Given the description of an element on the screen output the (x, y) to click on. 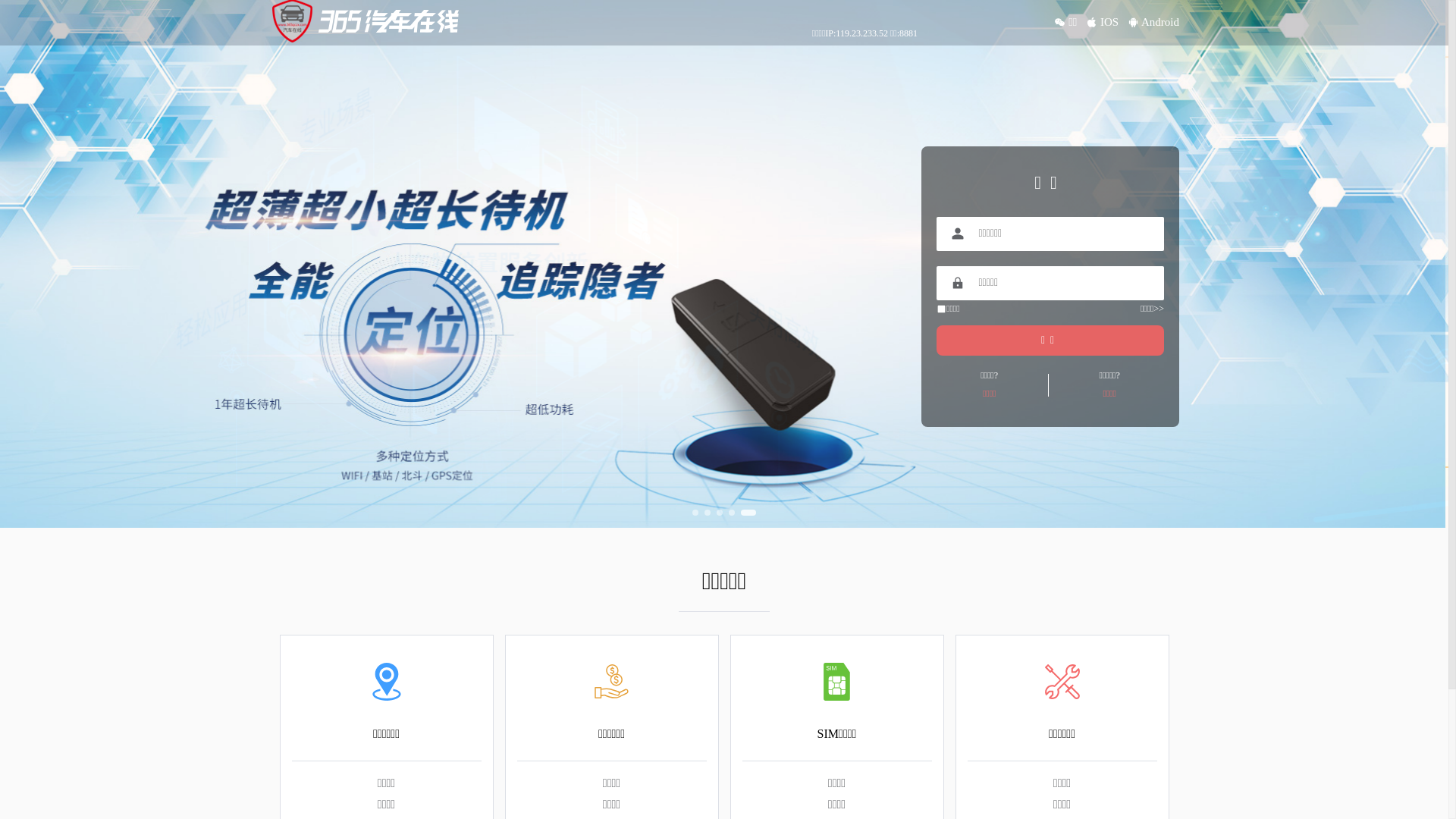
IOS Element type: text (1109, 21)
Android Element type: text (1160, 21)
